Given the description of an element on the screen output the (x, y) to click on. 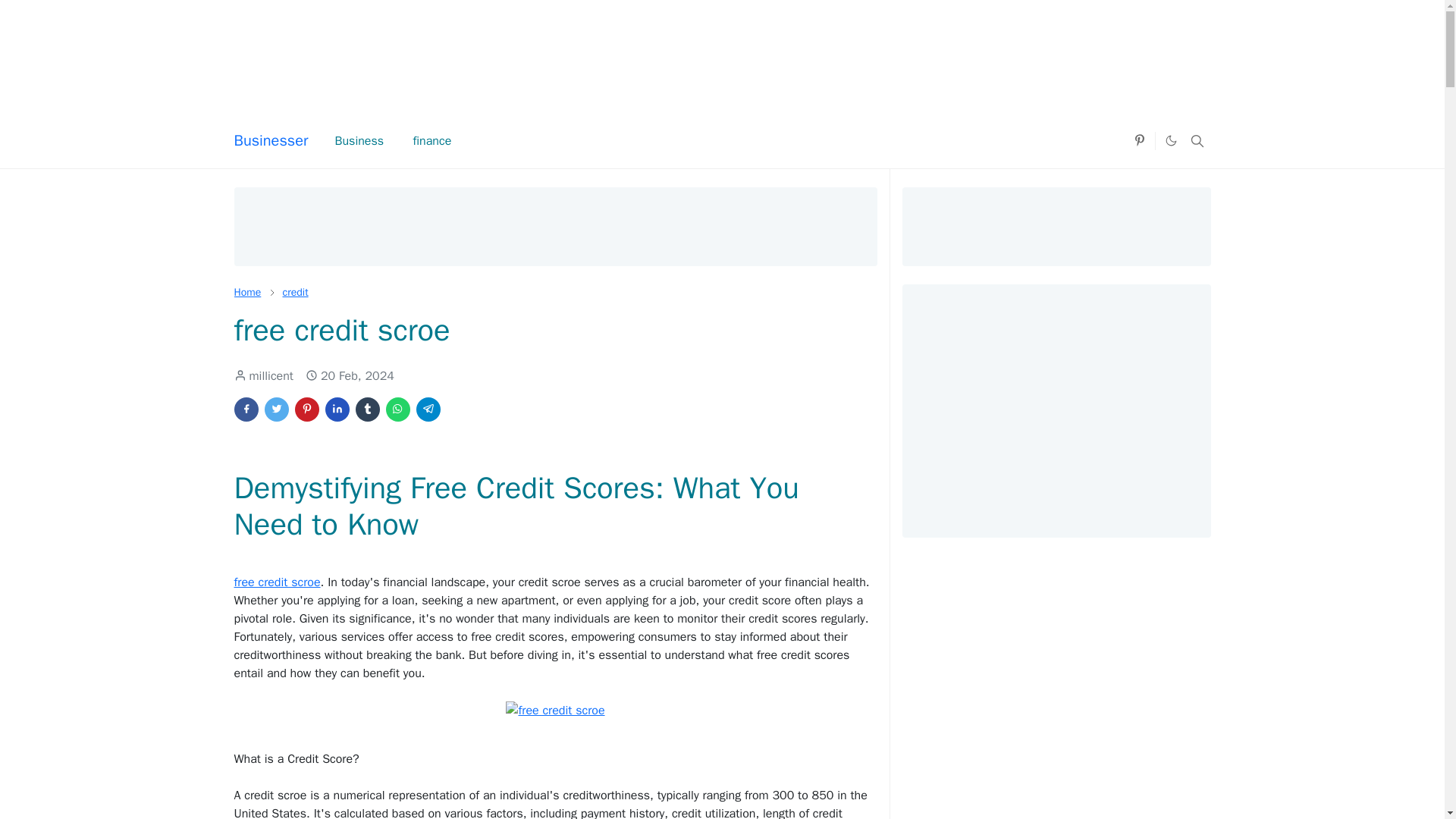
credit (294, 291)
Advertisement (554, 224)
Advertisement (721, 49)
Pin It (306, 409)
finance (431, 140)
Linkedin Share (336, 409)
Tweet This (275, 409)
Tumblr Share (366, 409)
Home (246, 291)
Advertisement (1055, 408)
credit (294, 291)
Facebook Share (244, 409)
free credit scroe (554, 710)
Advertisement (1055, 224)
Business (358, 140)
